Given the description of an element on the screen output the (x, y) to click on. 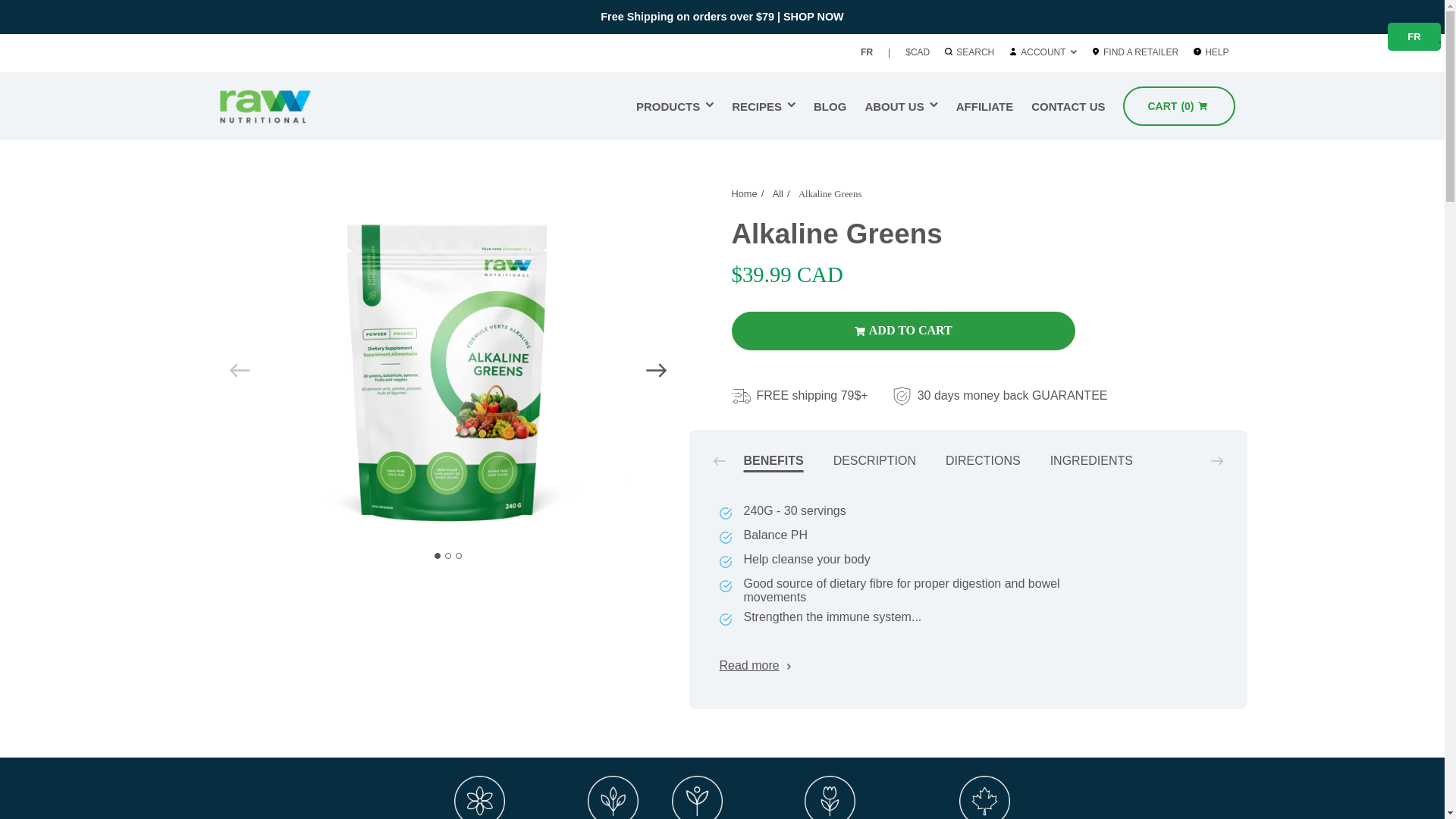
EXPAND (763, 106)
FIND A RETAILER (791, 104)
FR (900, 106)
BLOG (1142, 52)
ACCOUNT (1414, 37)
FR (829, 106)
EXPAND (674, 106)
RAW Nutritional (1042, 52)
EXPAND (866, 52)
HELP (710, 104)
EXPAND (284, 106)
